Given the description of an element on the screen output the (x, y) to click on. 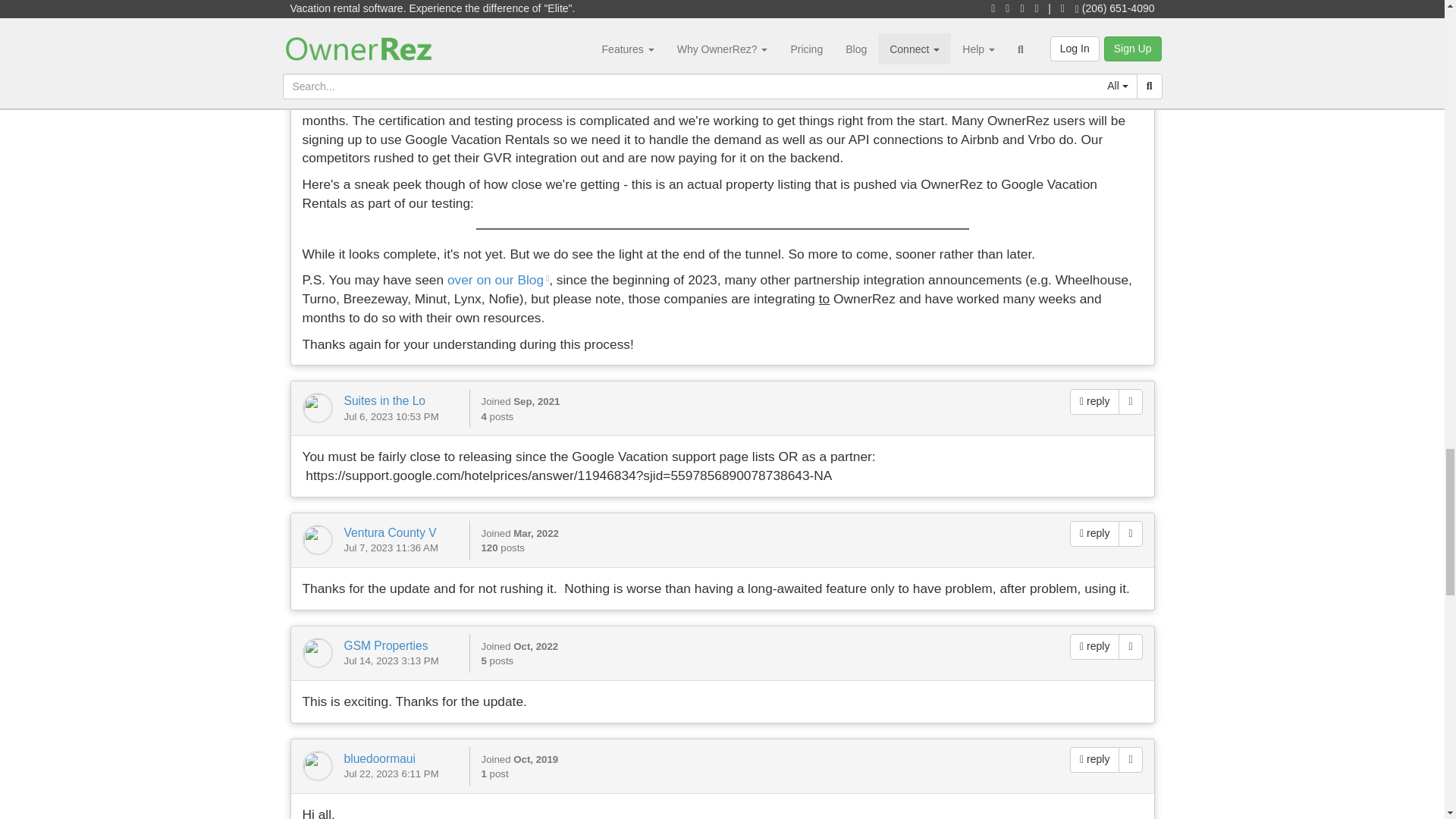
Permanent link (1129, 759)
Permanent link (1129, 46)
Permanent link (1129, 533)
Permanent link (1129, 646)
Permanent link (1129, 401)
